Given the description of an element on the screen output the (x, y) to click on. 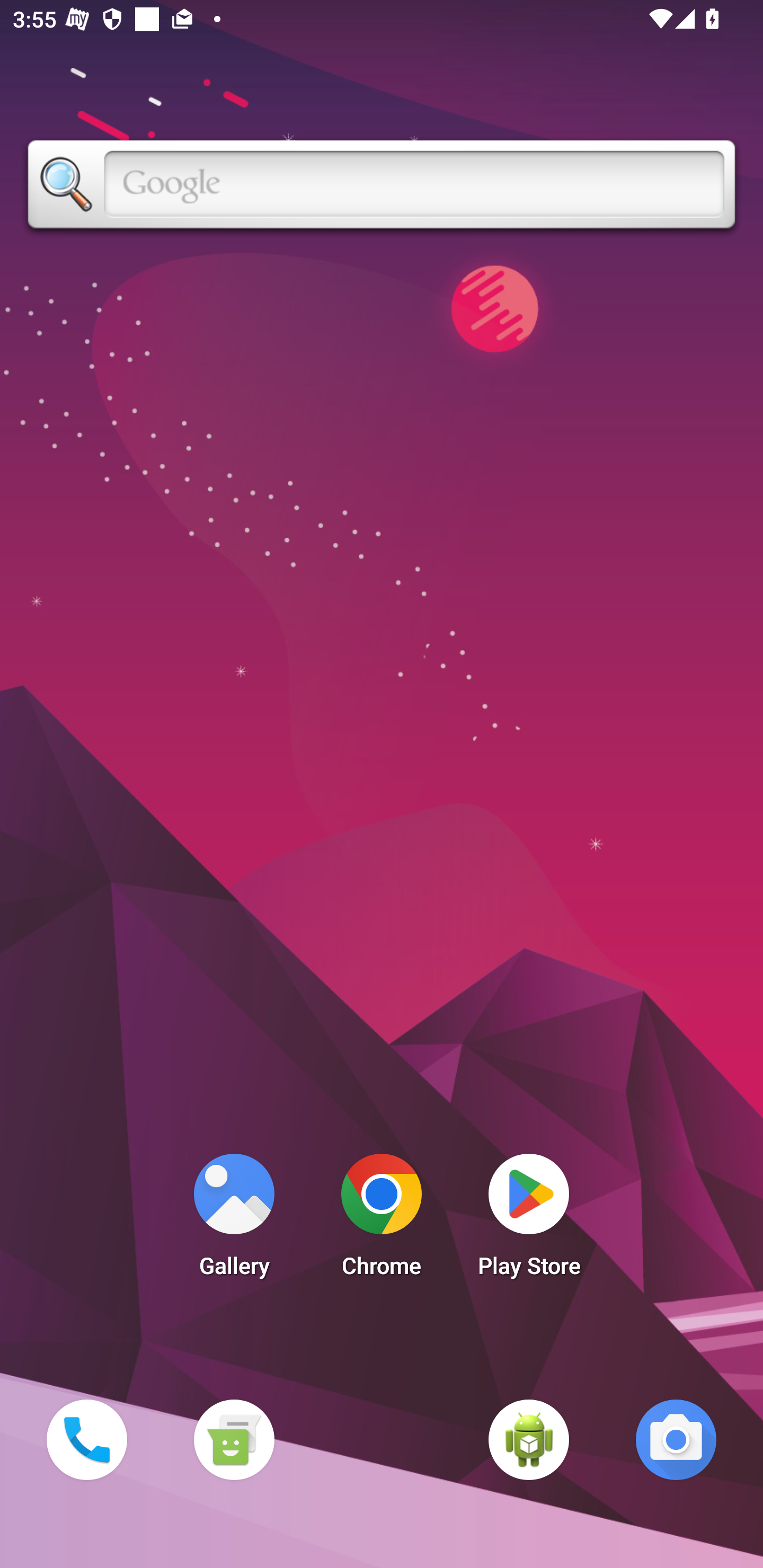
Gallery (233, 1220)
Chrome (381, 1220)
Play Store (528, 1220)
Phone (86, 1439)
Messaging (233, 1439)
WebView Browser Tester (528, 1439)
Camera (676, 1439)
